Given the description of an element on the screen output the (x, y) to click on. 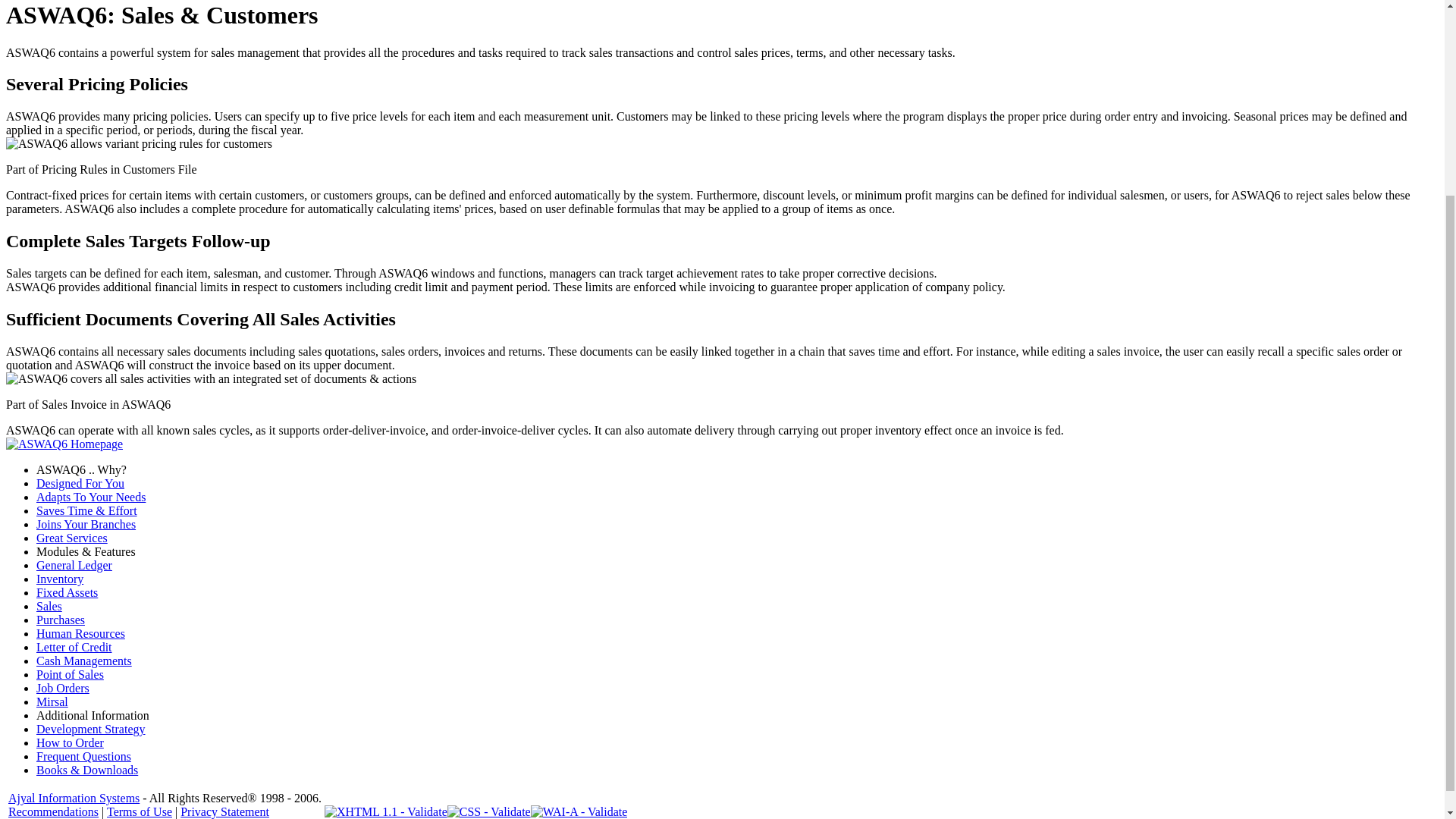
Adapts To Your Needs (90, 496)
Cash Managements (84, 660)
Inventory (59, 578)
Designed For You (79, 482)
Frequent Questions (83, 756)
Purchases (60, 619)
How to Order (69, 742)
Letter of Credit (74, 646)
Job Orders (62, 687)
Job Orders (62, 687)
